Given the description of an element on the screen output the (x, y) to click on. 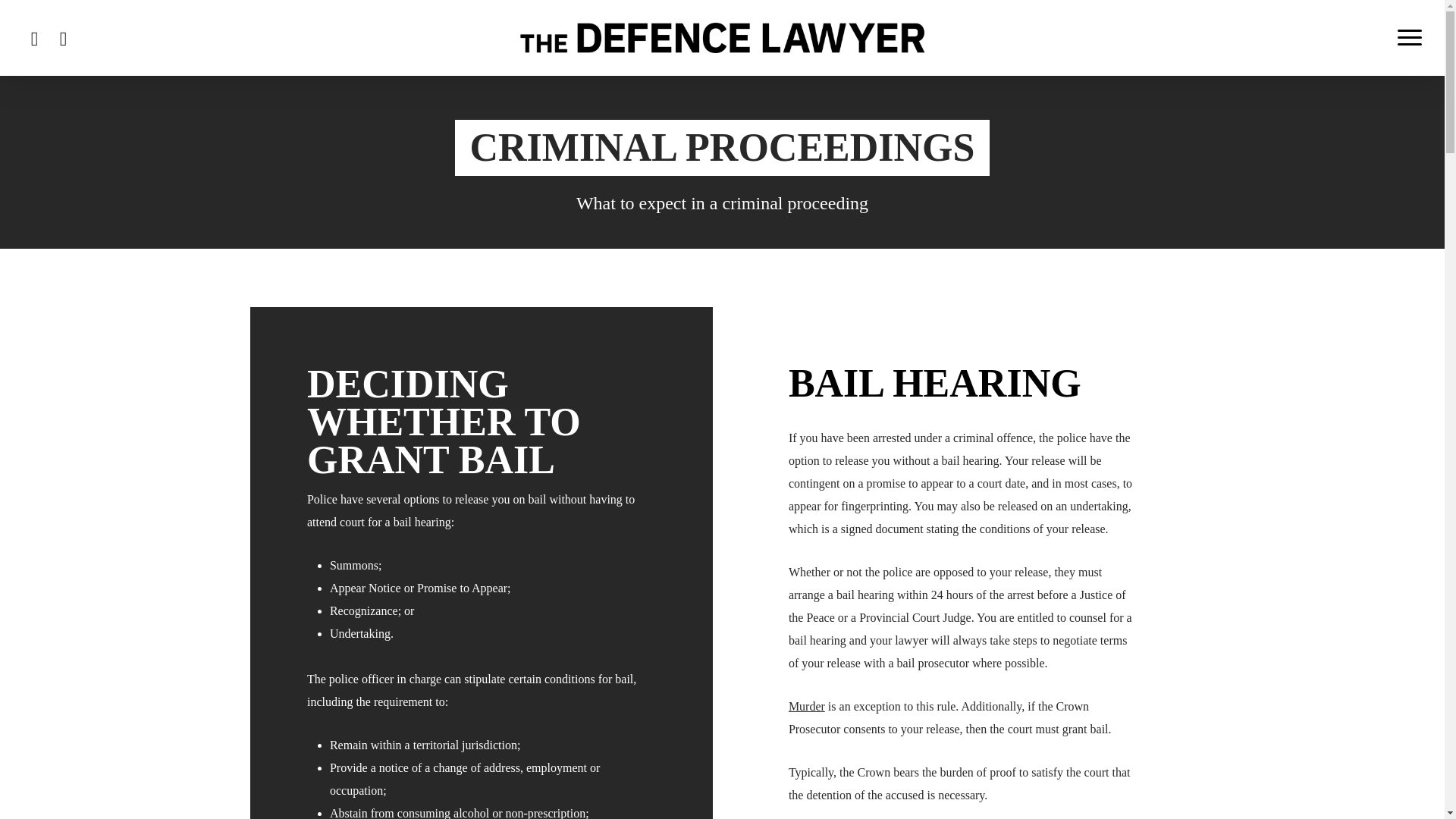
EMAIL (63, 36)
Menu (1409, 38)
PHONE (35, 36)
Murder (807, 706)
